Given the description of an element on the screen output the (x, y) to click on. 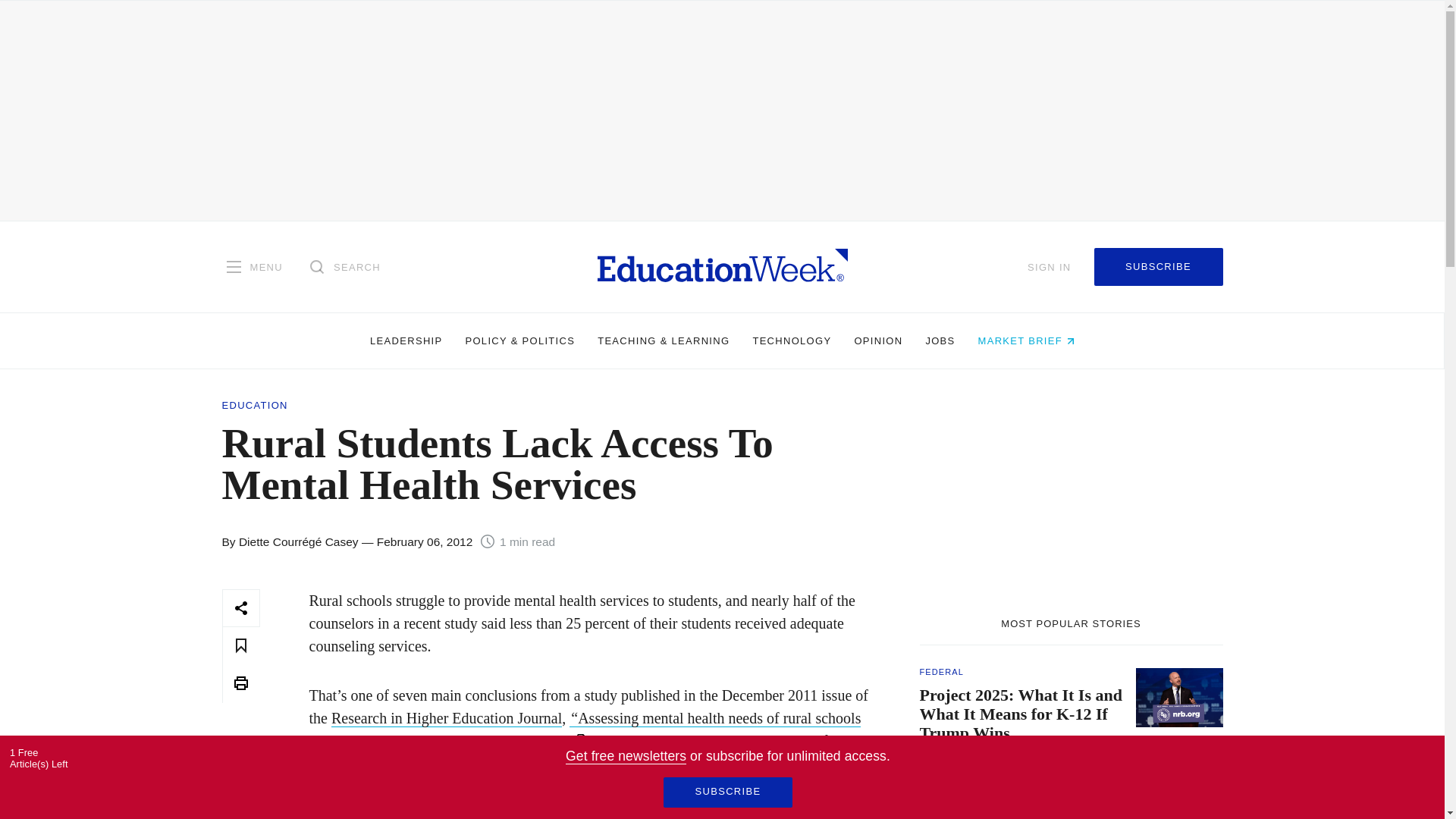
Homepage (721, 266)
